Given the description of an element on the screen output the (x, y) to click on. 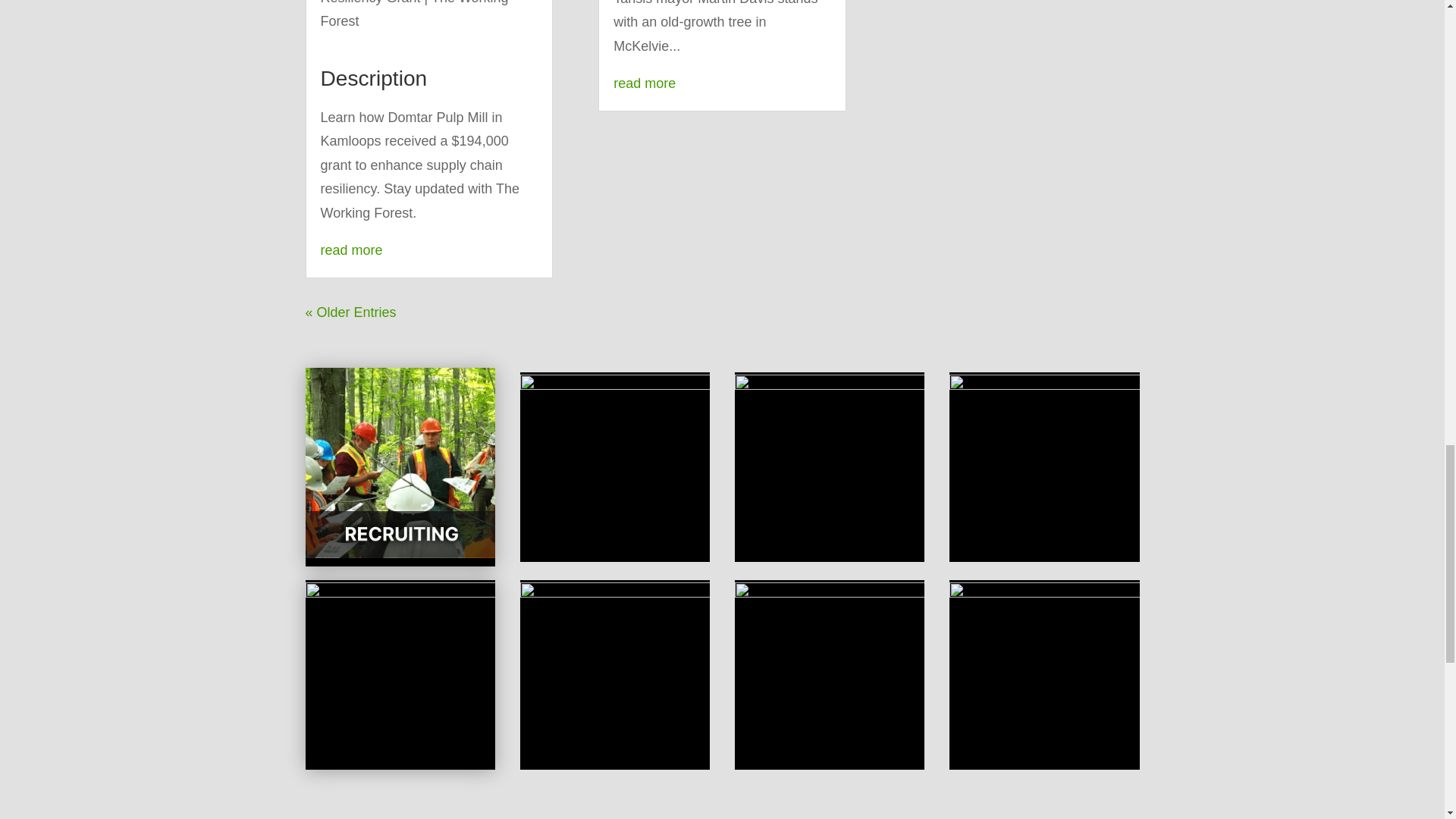
read more (350, 249)
read more (643, 83)
